Given the description of an element on the screen output the (x, y) to click on. 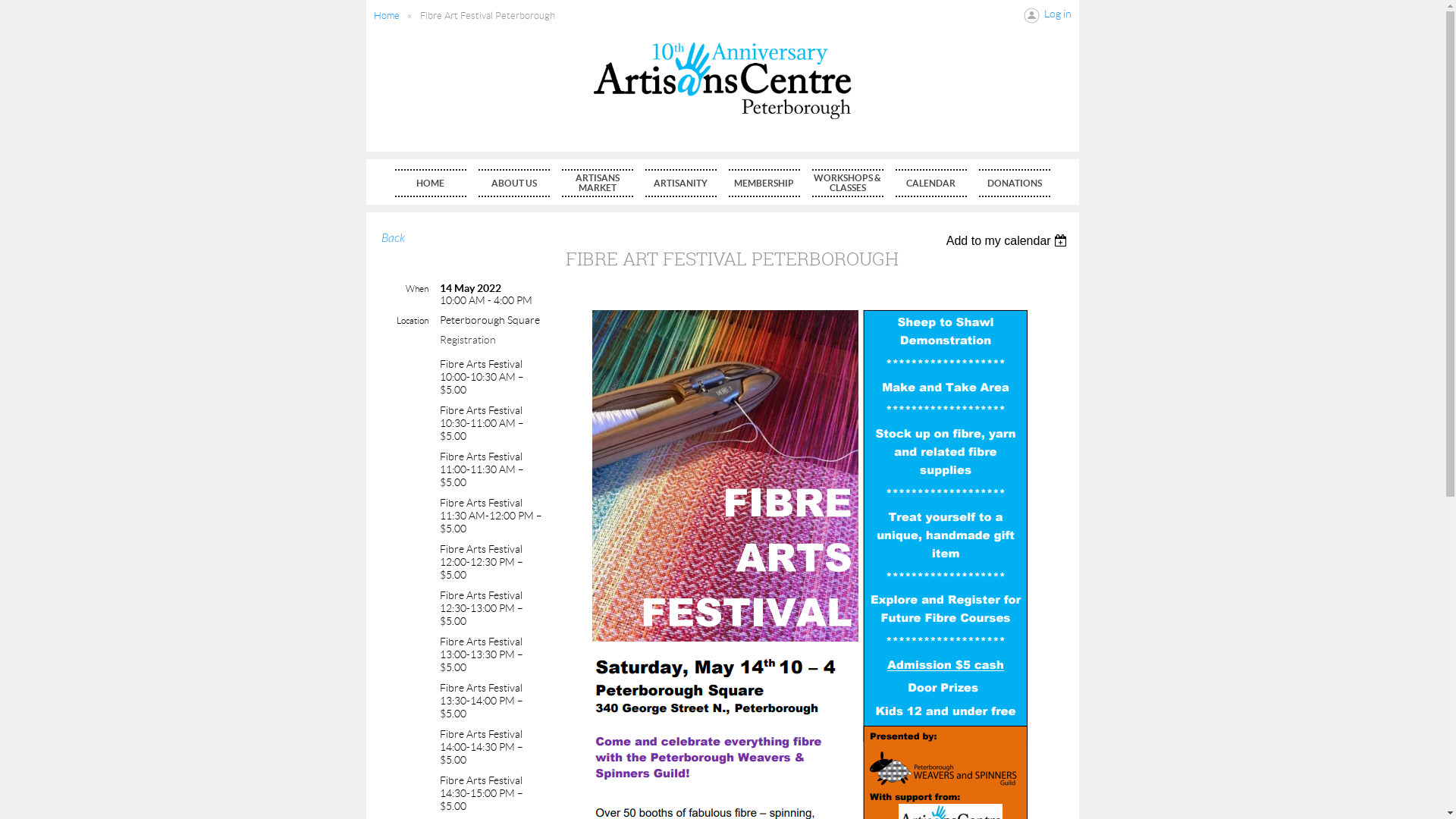
ARTISANITY Element type: text (679, 183)
Home Element type: text (385, 15)
Back Element type: text (392, 237)
MEMBERSHIP Element type: text (763, 183)
CALENDAR Element type: text (930, 183)
Log in Element type: text (1047, 15)
ARTISANS MARKET Element type: text (596, 183)
DONATIONS Element type: text (1013, 183)
HOME Element type: text (429, 183)
WORKSHOPS & CLASSES Element type: text (846, 183)
ABOUT US Element type: text (513, 183)
